Given the description of an element on the screen output the (x, y) to click on. 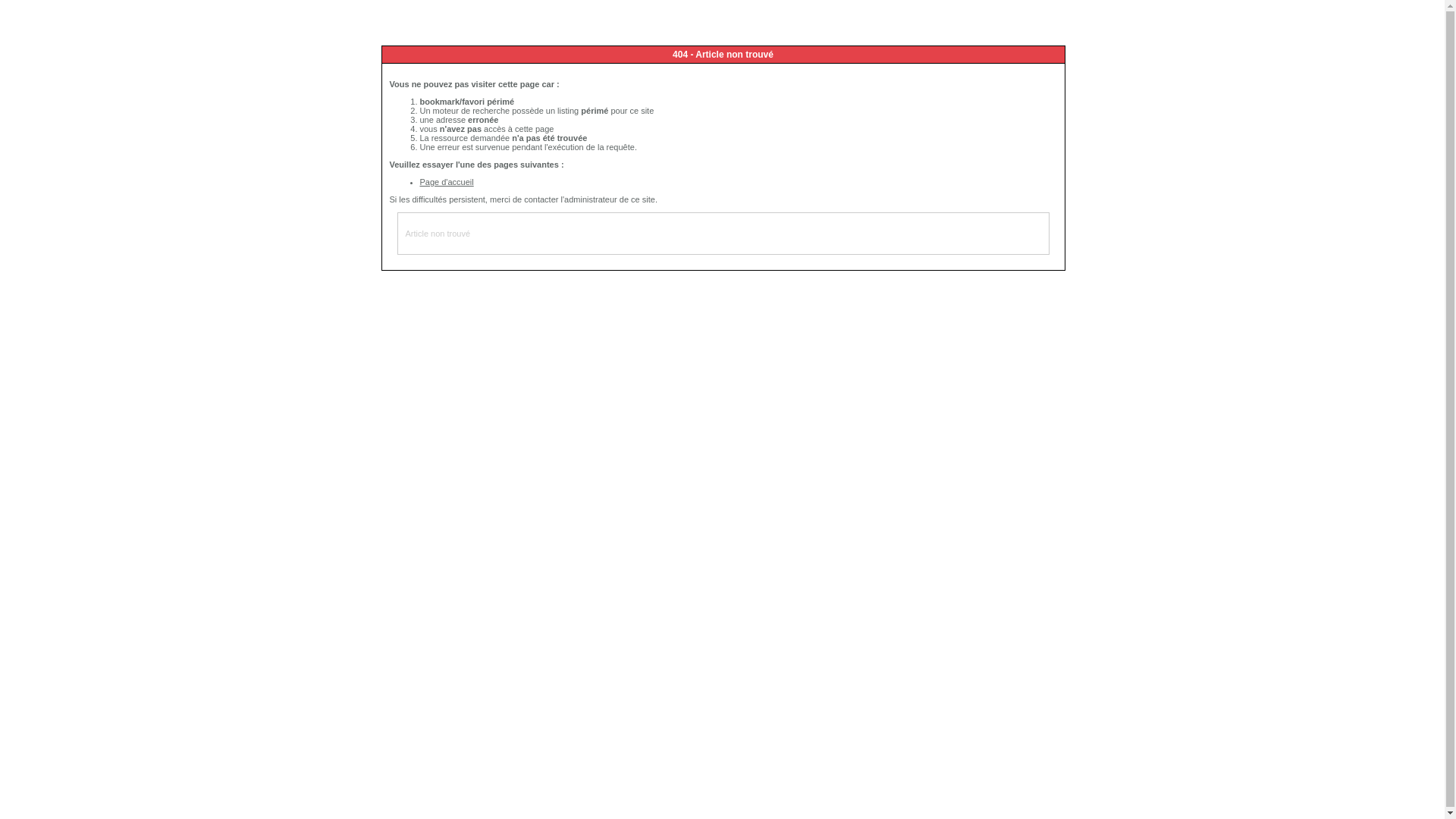
Page d'accueil Element type: text (446, 181)
